Given the description of an element on the screen output the (x, y) to click on. 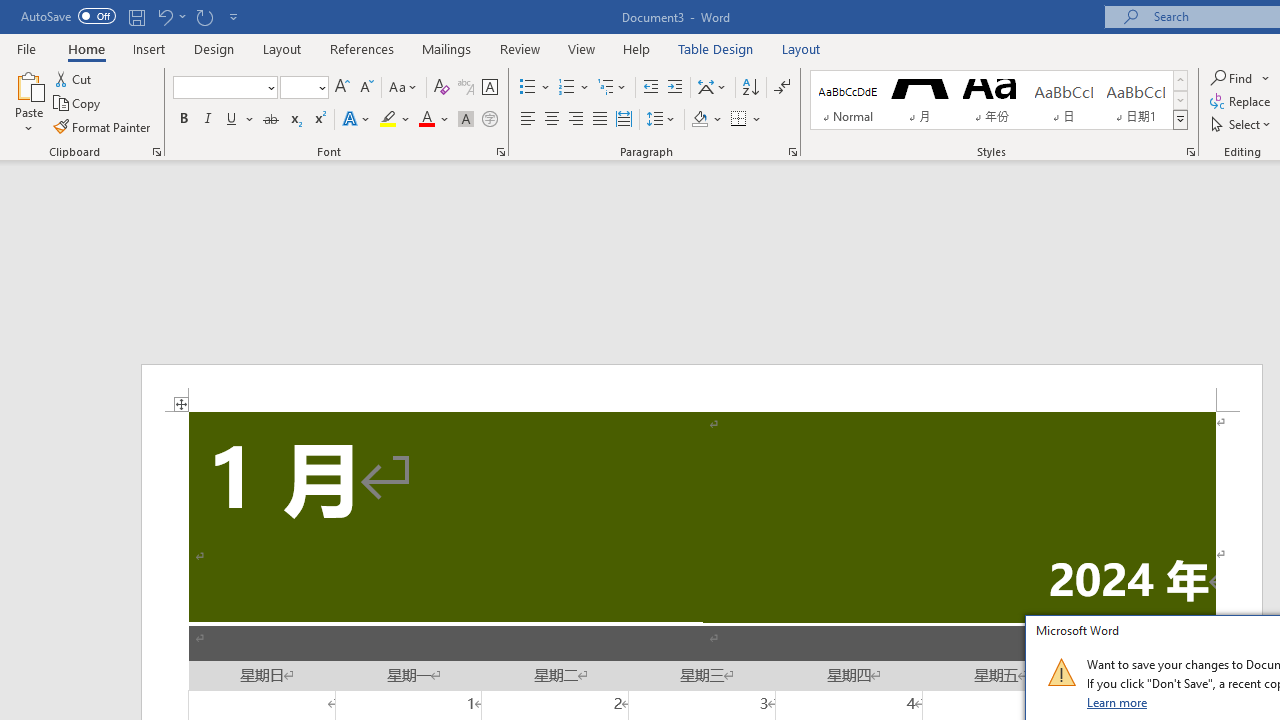
Shading (706, 119)
Styles... (1190, 151)
Copy (78, 103)
Format Painter (103, 126)
Row up (1179, 79)
Replace... (1242, 101)
Sort... (750, 87)
Italic (207, 119)
Styles (1179, 120)
